Given the description of an element on the screen output the (x, y) to click on. 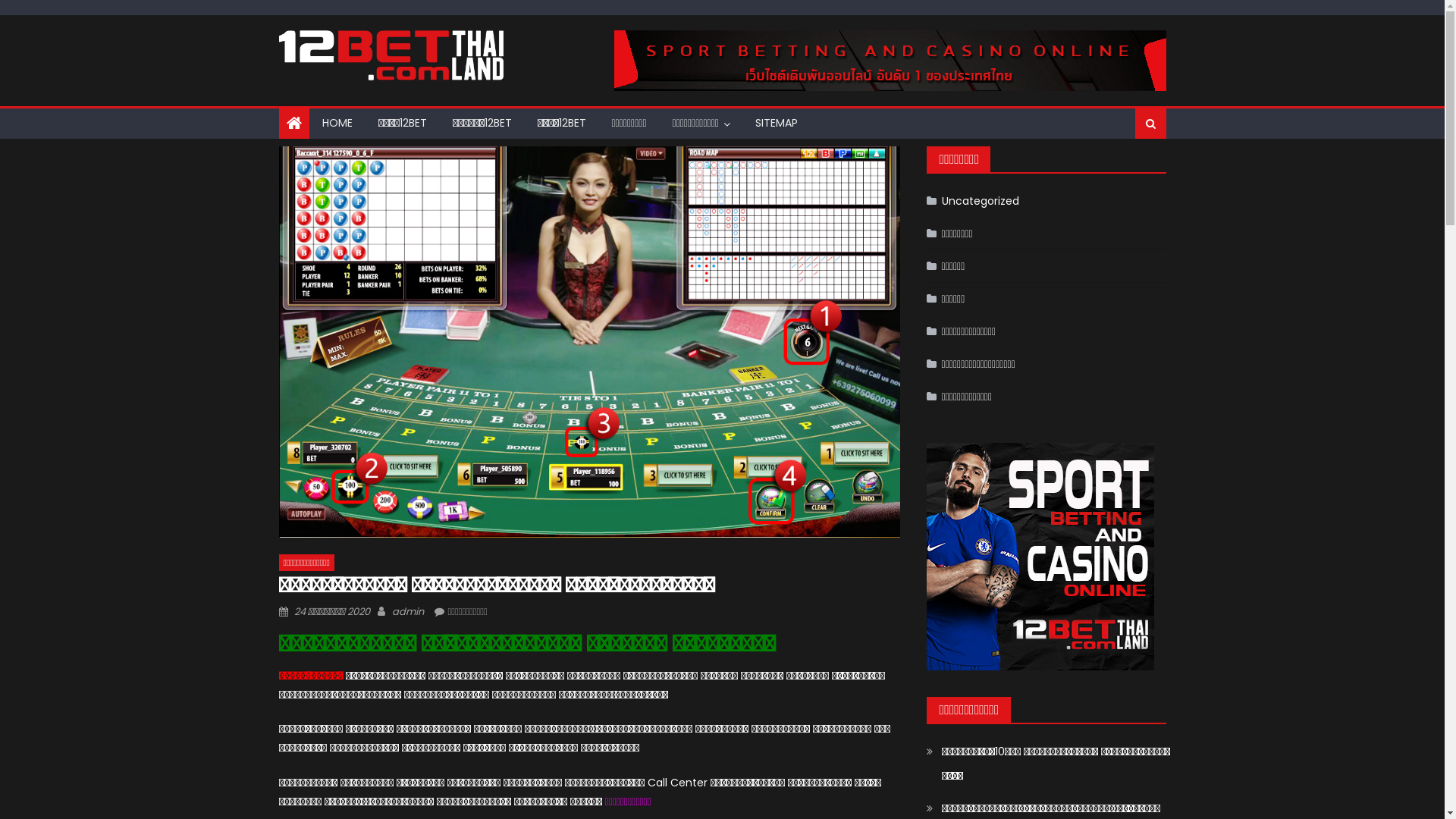
HOME Element type: text (337, 122)
admin Element type: text (407, 611)
Uncategorized Element type: text (972, 200)
SITEMAP Element type: text (776, 122)
